Given the description of an element on the screen output the (x, y) to click on. 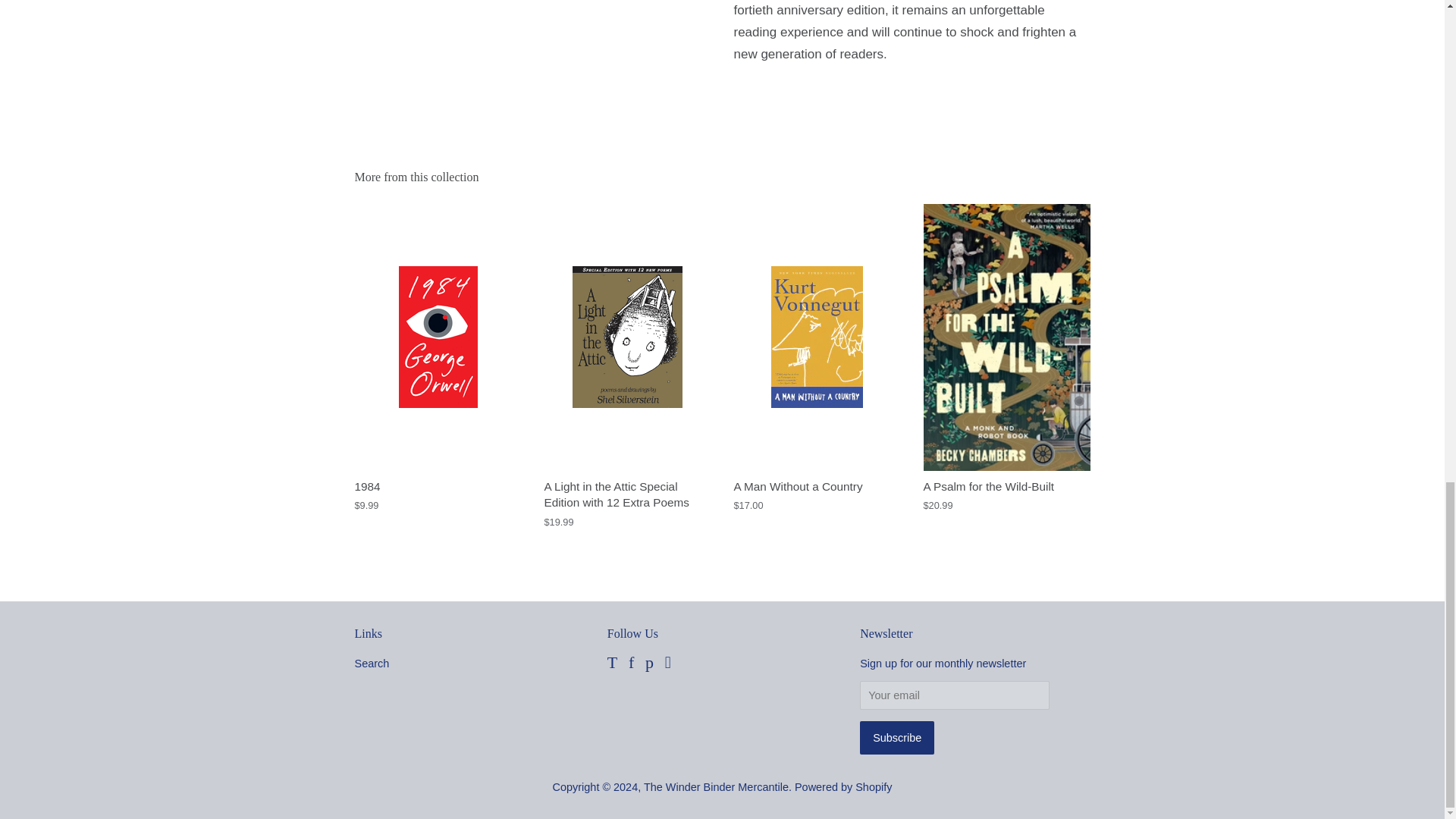
The Winder Binder Mercantile (716, 787)
Subscribe (897, 737)
Search (372, 663)
Powered by Shopify (842, 787)
Subscribe (897, 737)
